Given the description of an element on the screen output the (x, y) to click on. 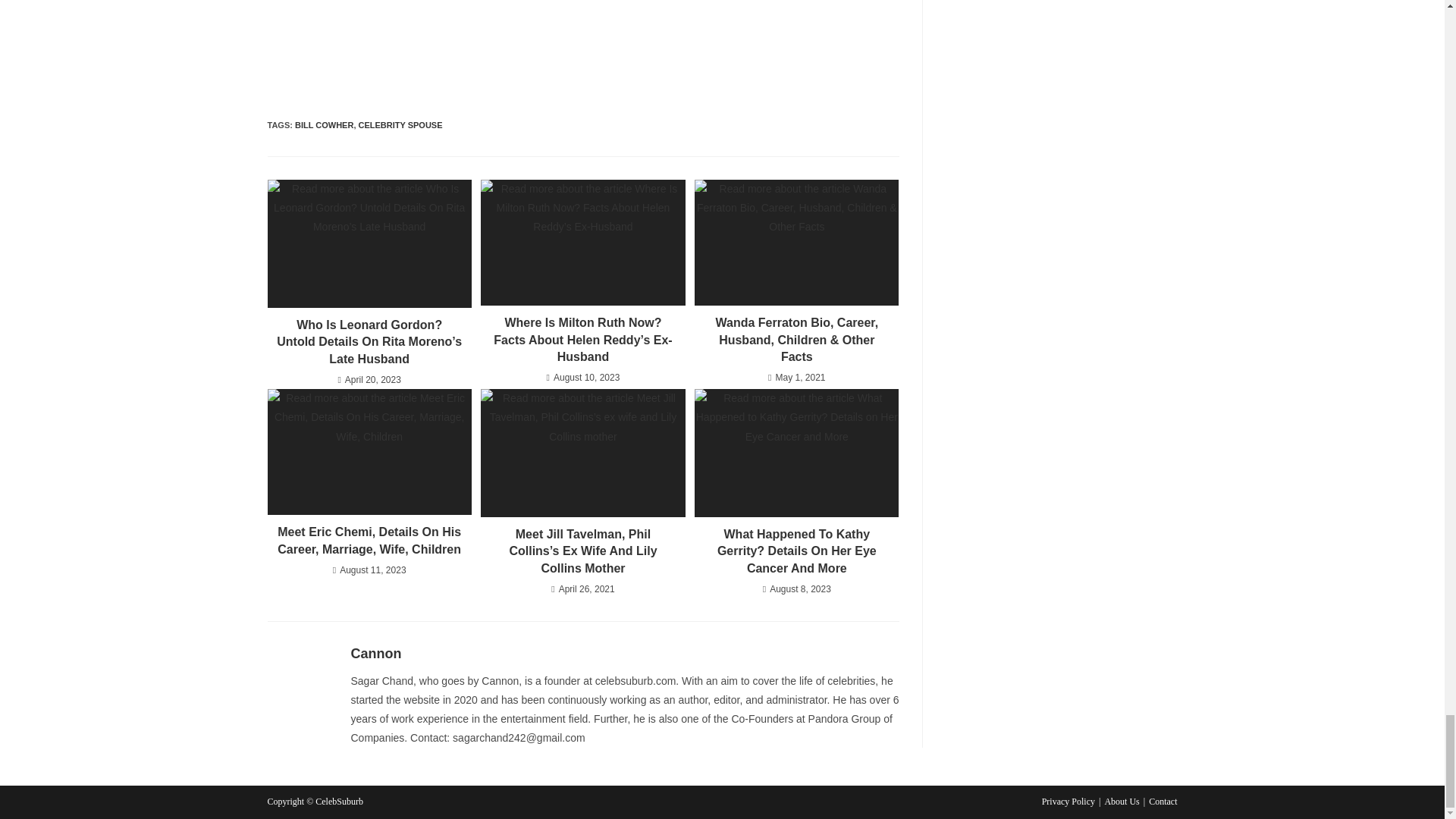
CELEBRITY SPOUSE (400, 124)
Visit author page (375, 653)
BILL COWHER (324, 124)
